Given the description of an element on the screen output the (x, y) to click on. 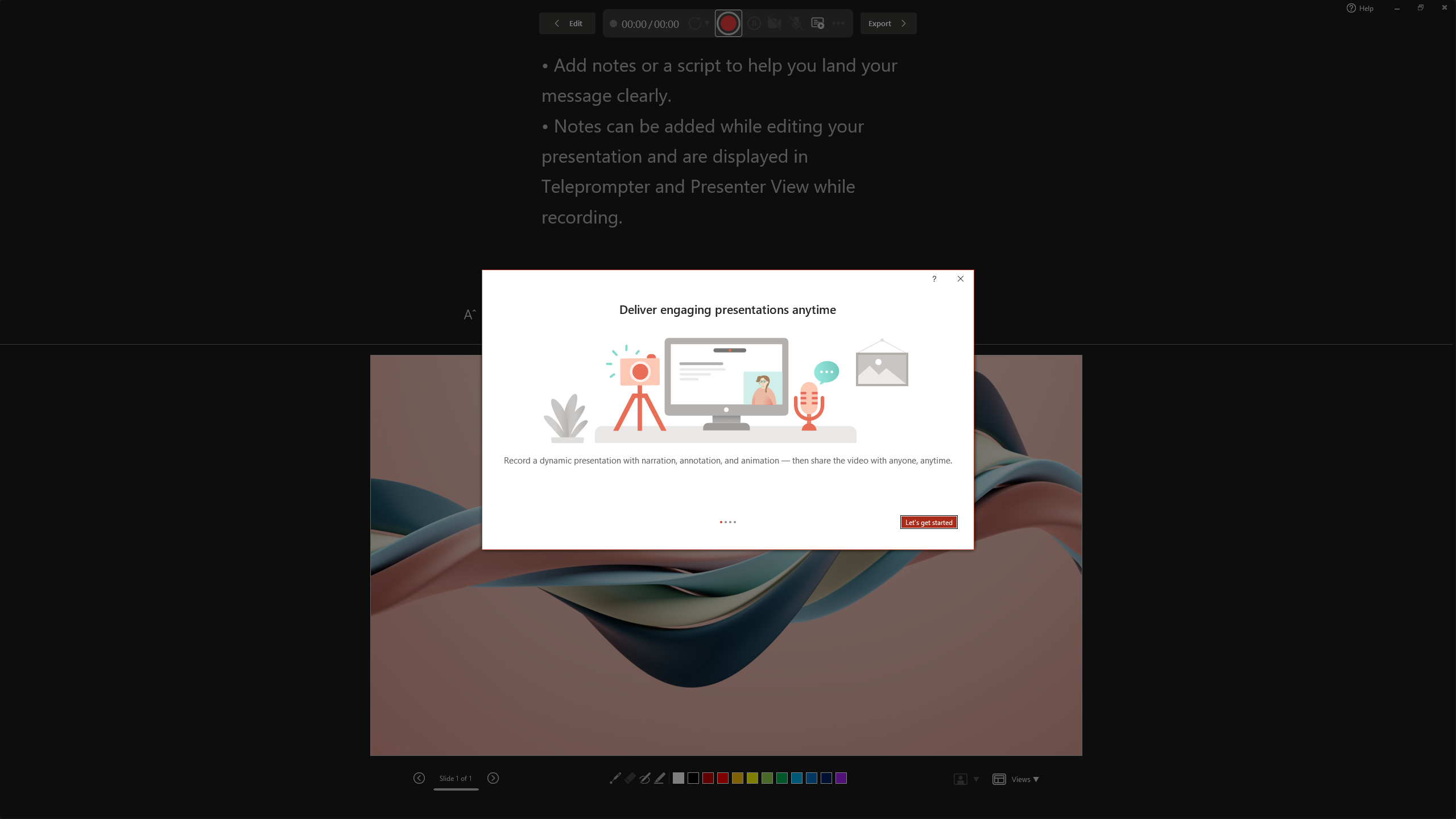
Retrospect (455, 56)
Variants (1301, 67)
Let's get started (928, 522)
Themes (1068, 67)
AutomationID: SlideThemesGallery (539, 56)
